Given the description of an element on the screen output the (x, y) to click on. 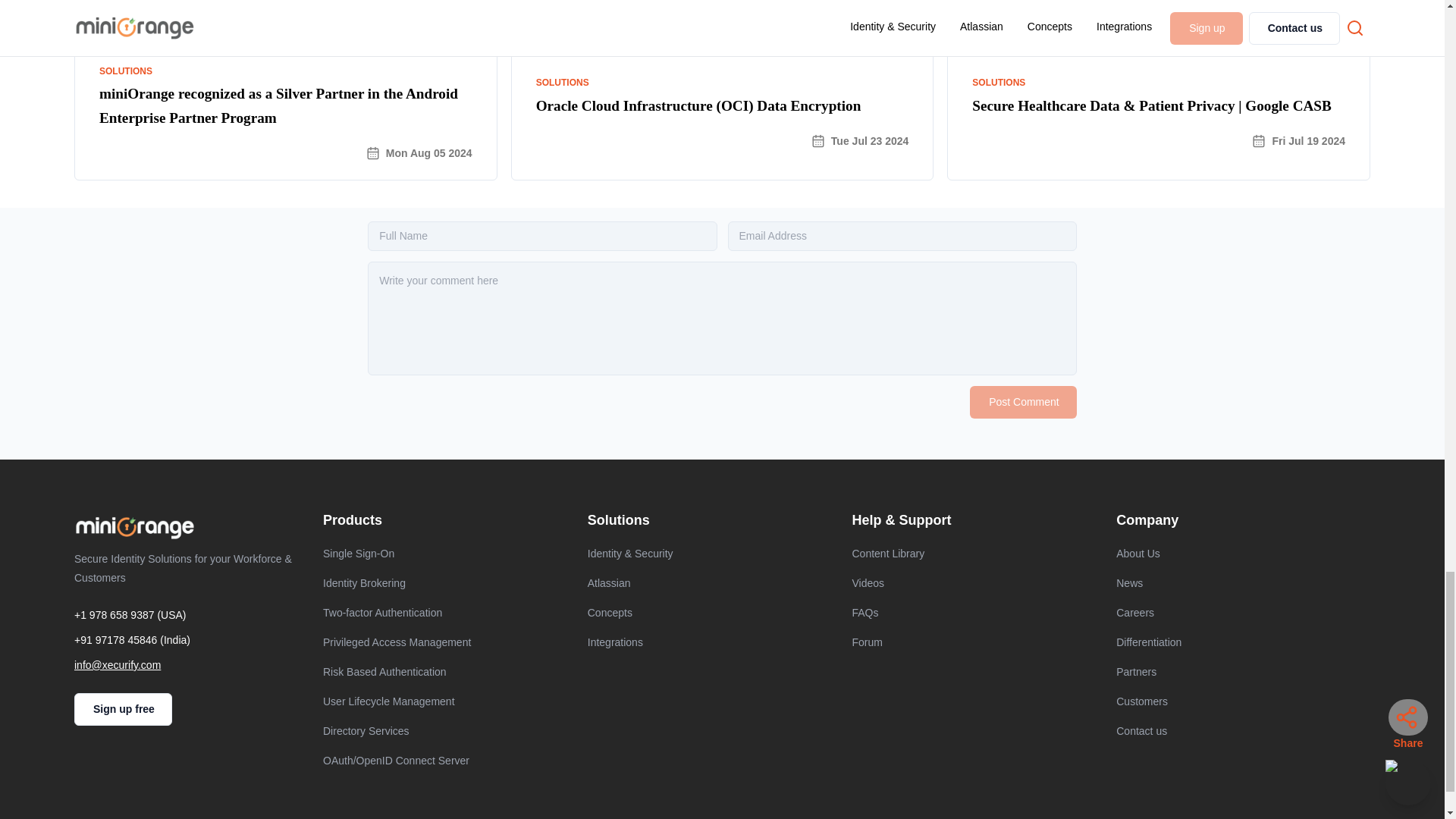
Atlassian (714, 583)
Post Comment (1023, 401)
Privileged Access Management (449, 642)
Concepts (714, 612)
Directory Services (449, 731)
User Lifecycle Management (449, 701)
Single Sign-On (449, 553)
Risk Based Authentication (449, 671)
Two-factor Authentication (449, 612)
